Given the description of an element on the screen output the (x, y) to click on. 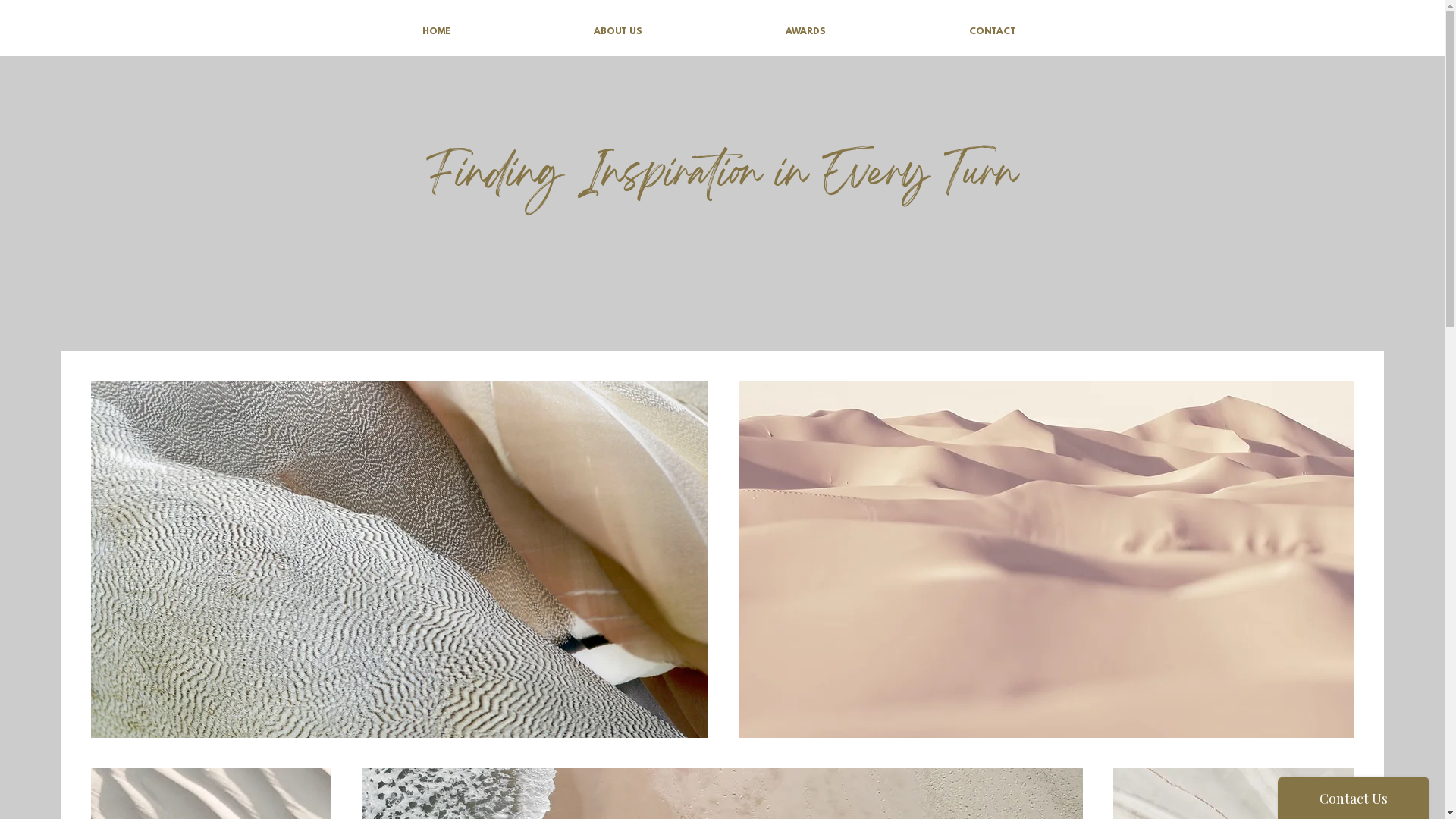
AWARDS Element type: text (805, 32)
HOME Element type: text (435, 32)
ABOUT US Element type: text (617, 32)
CONTACT Element type: text (992, 32)
